Given the description of an element on the screen output the (x, y) to click on. 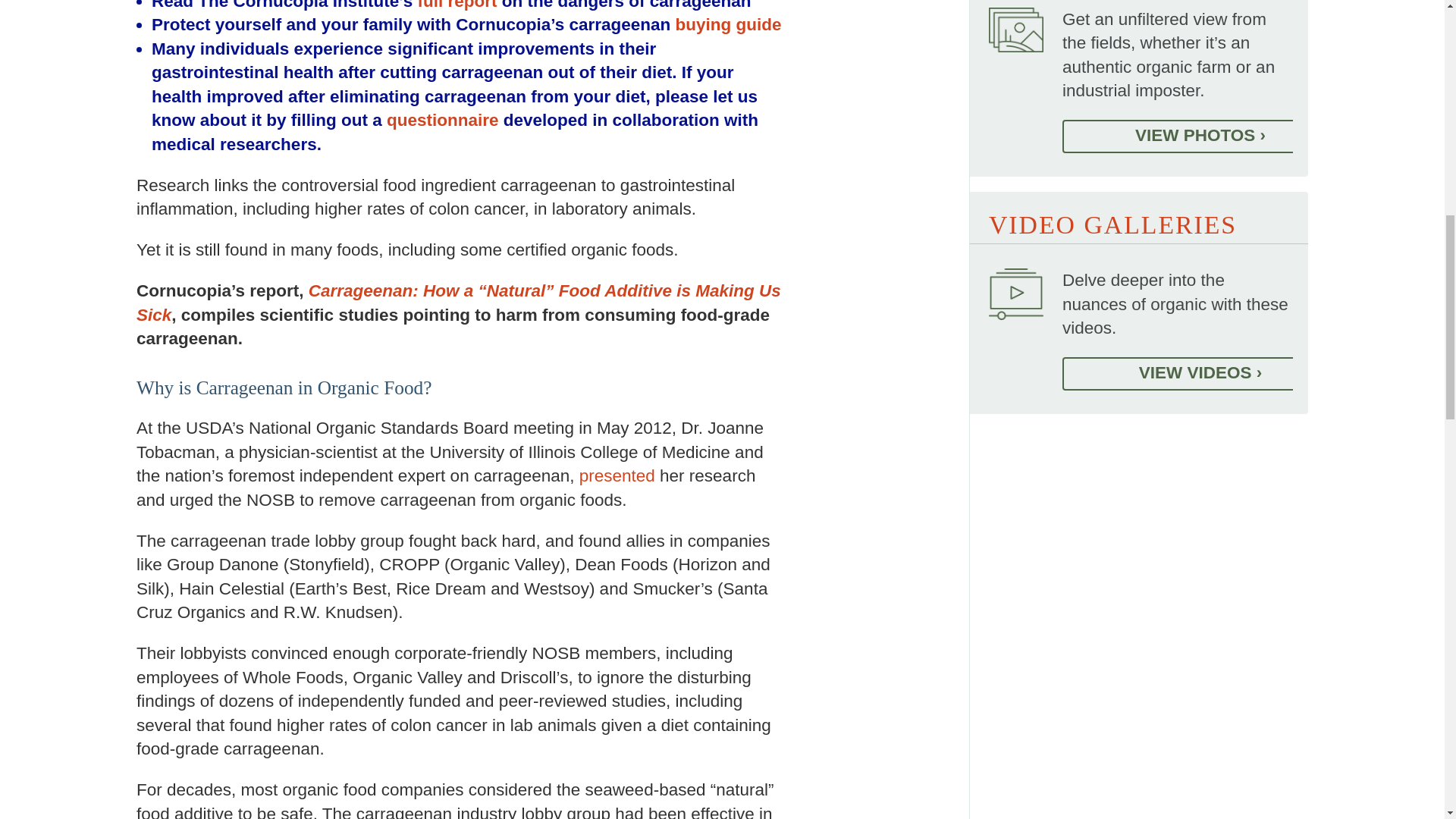
buying guide (728, 24)
presented (617, 475)
questionnaire (443, 119)
full report (456, 5)
